Given the description of an element on the screen output the (x, y) to click on. 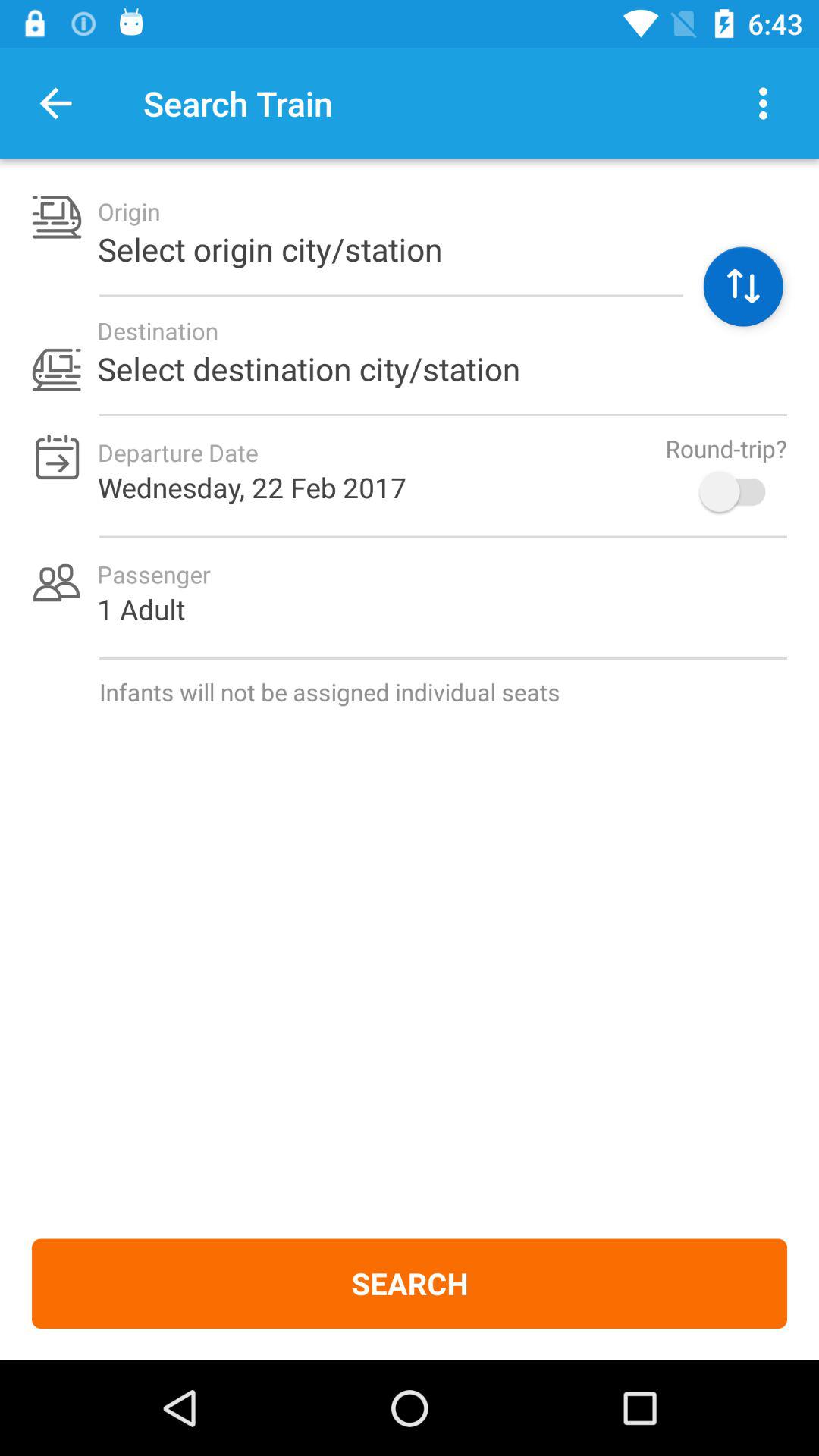
go back (55, 103)
